Given the description of an element on the screen output the (x, y) to click on. 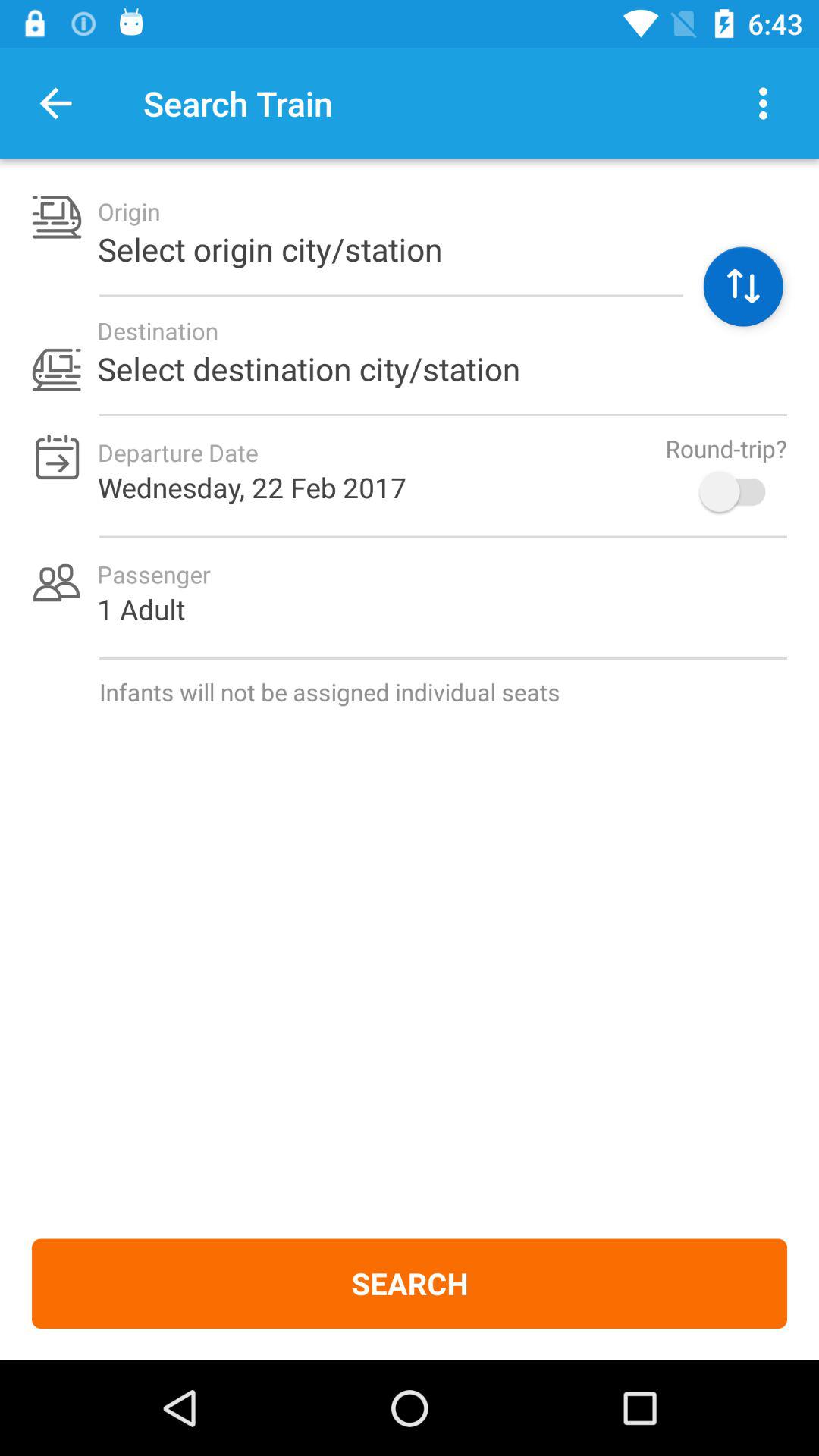
go back (55, 103)
